Given the description of an element on the screen output the (x, y) to click on. 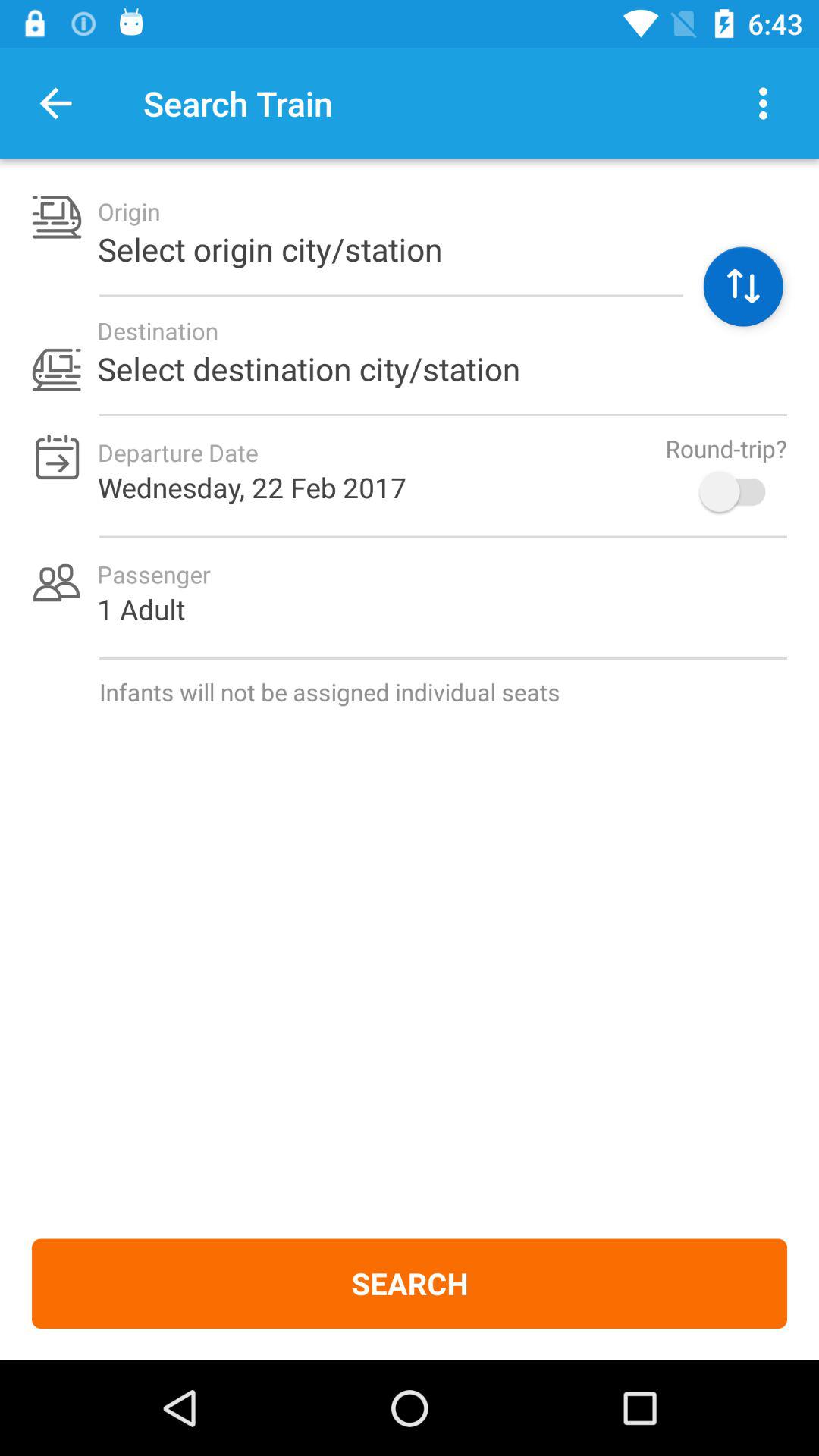
go back (55, 103)
